Given the description of an element on the screen output the (x, y) to click on. 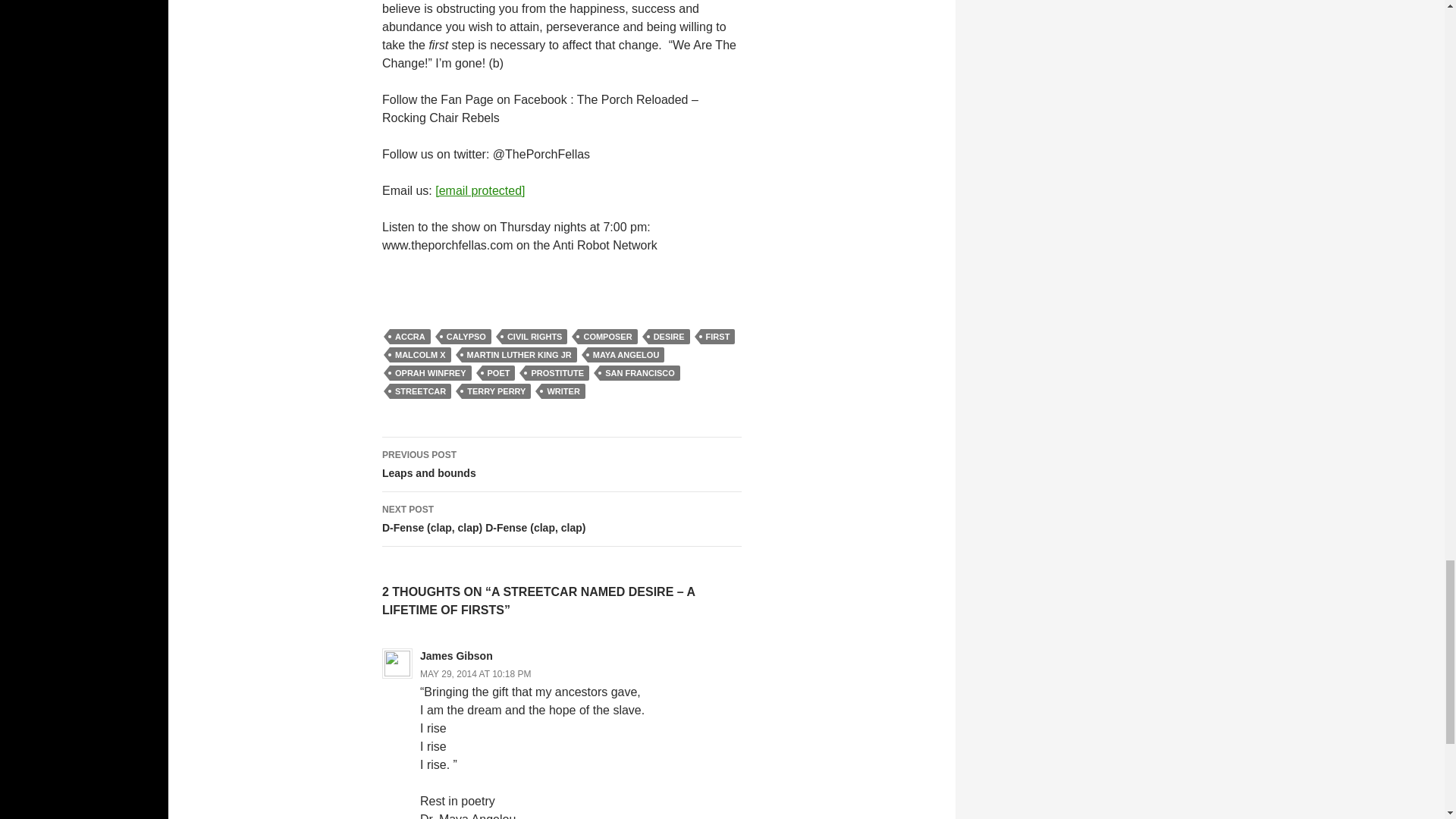
MAYA ANGELOU (626, 354)
ACCRA (410, 336)
FIRST (717, 336)
SAN FRANCISCO (639, 372)
TERRY PERRY (496, 391)
OPRAH WINFREY (430, 372)
MAY 29, 2014 AT 10:18 PM (475, 674)
COMPOSER (607, 336)
PROSTITUTE (557, 372)
CALYPSO (466, 336)
